Given the description of an element on the screen output the (x, y) to click on. 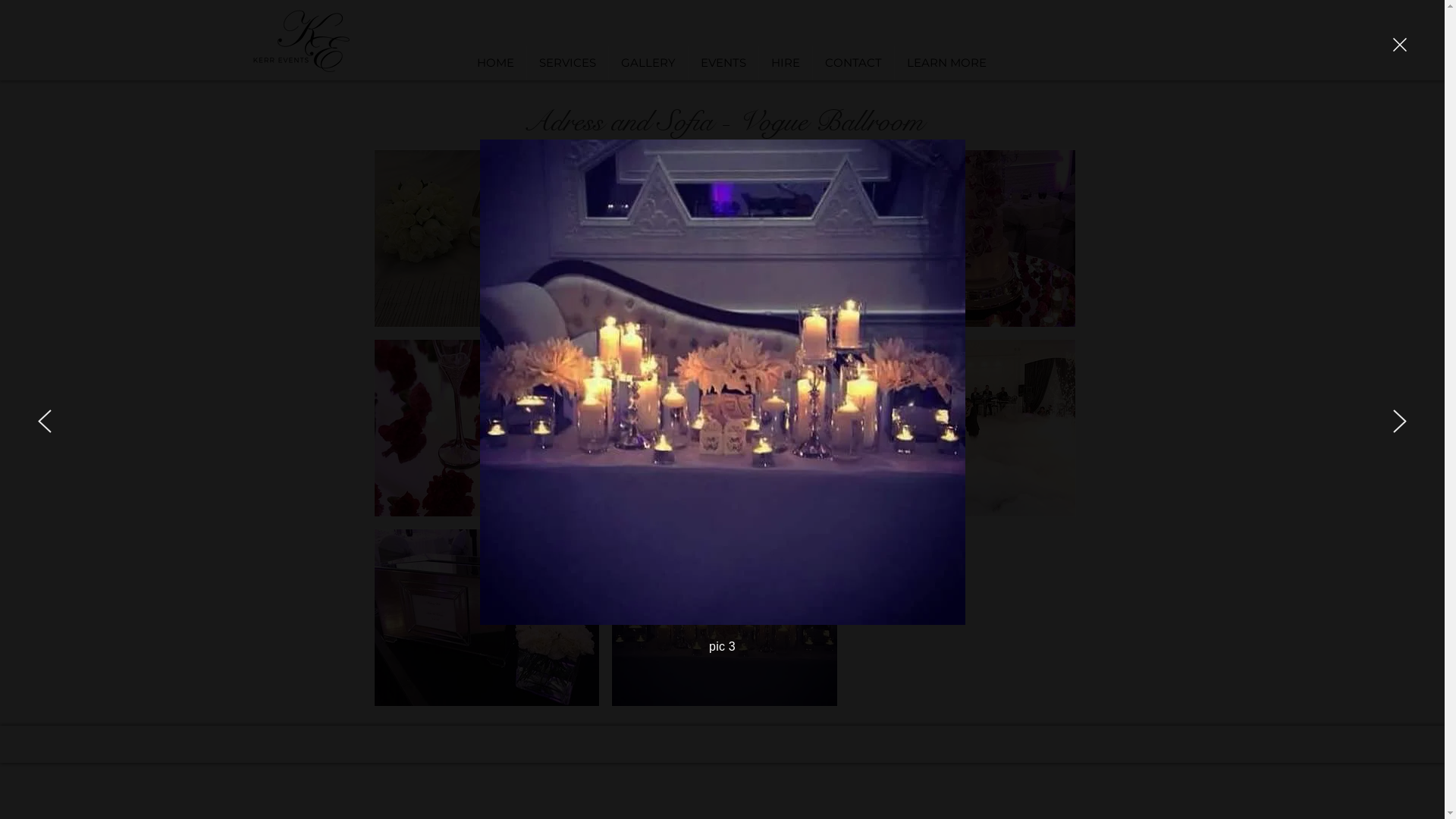
SERVICES Element type: text (566, 62)
HIRE Element type: text (784, 62)
EVENTS Element type: text (723, 62)
HOME Element type: text (494, 62)
GALLERY Element type: text (647, 62)
CONTACT Element type: text (853, 62)
